Given the description of an element on the screen output the (x, y) to click on. 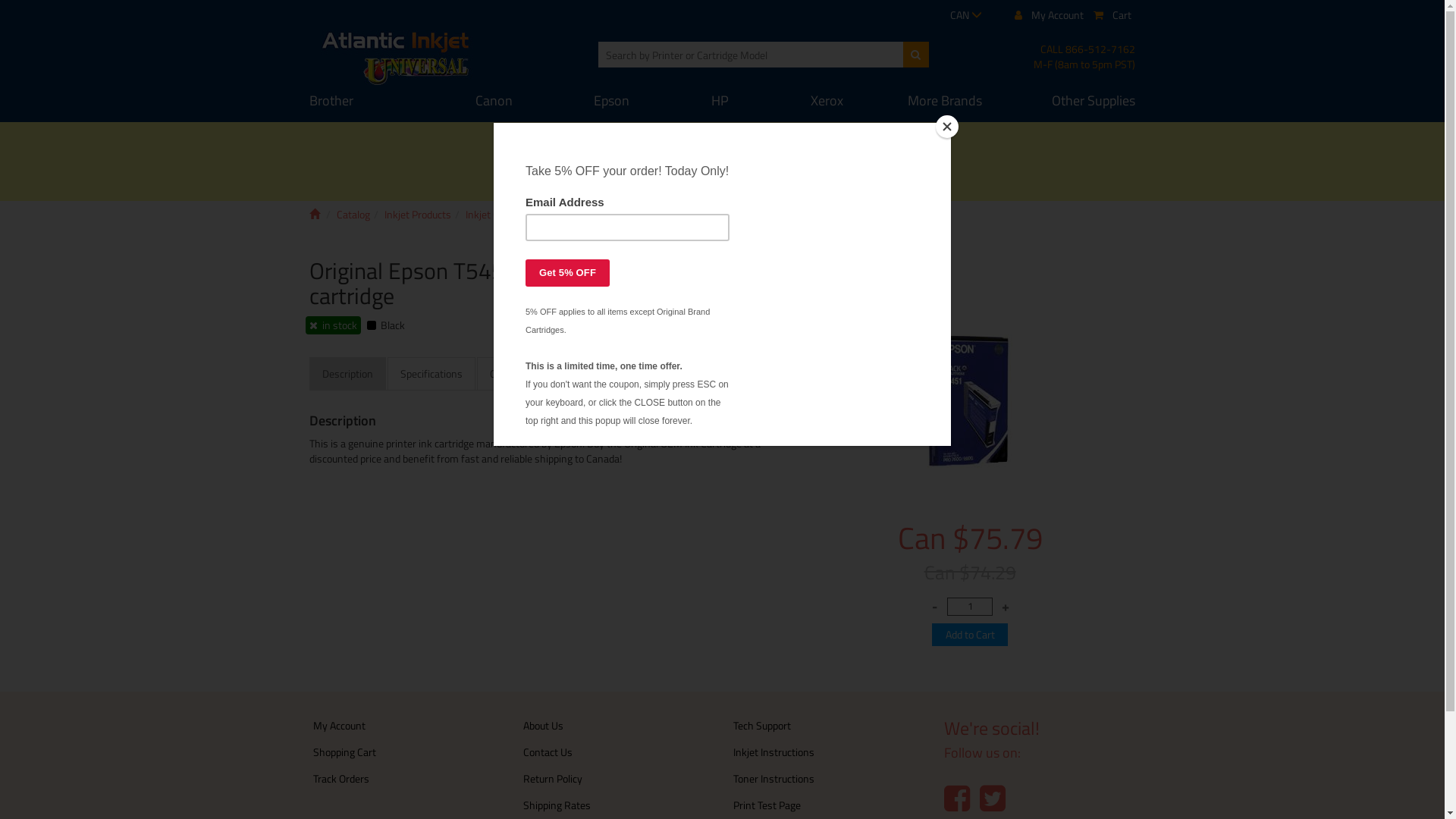
+ Element type: text (1004, 606)
Epson Inkjet Cartridges Canada Element type: text (623, 214)
Print Test Page Element type: text (766, 804)
Tech Support Element type: text (761, 725)
- Element type: text (934, 606)
Contact Us Element type: text (547, 751)
About Us Element type: text (543, 725)
More Brands Element type: text (944, 100)
Brother Element type: text (372, 100)
Add to Cart Element type: text (969, 634)
   Cart Element type: text (1112, 14)
Inkjet Instructions Element type: text (773, 751)
Inkjet Products Element type: text (417, 214)
Xerox Element type: text (826, 100)
Description Element type: text (347, 373)
Canon Element type: text (493, 100)
Inkjet Cartridges Element type: text (502, 214)
Other Supplies Element type: text (1070, 100)
Toner Instructions Element type: text (773, 778)
Original OEM Epson Inkjet Cartridges Element type: text (789, 214)
My Account Element type: text (339, 725)
   My Account Element type: text (1048, 14)
Epson Element type: text (612, 100)
866-512-7162 Element type: text (1100, 48)
Specifications Element type: text (431, 373)
Track Orders Element type: text (341, 778)
Compatible Printers Element type: text (533, 373)
HP Element type: text (719, 100)
Click for Details Element type: text (796, 177)
Catalog Element type: text (353, 214)
CAN Element type: text (966, 14)
Shipping Rates Element type: text (556, 804)
Return Policy Element type: text (552, 778)
Shopping Cart Element type: text (344, 751)
